Given the description of an element on the screen output the (x, y) to click on. 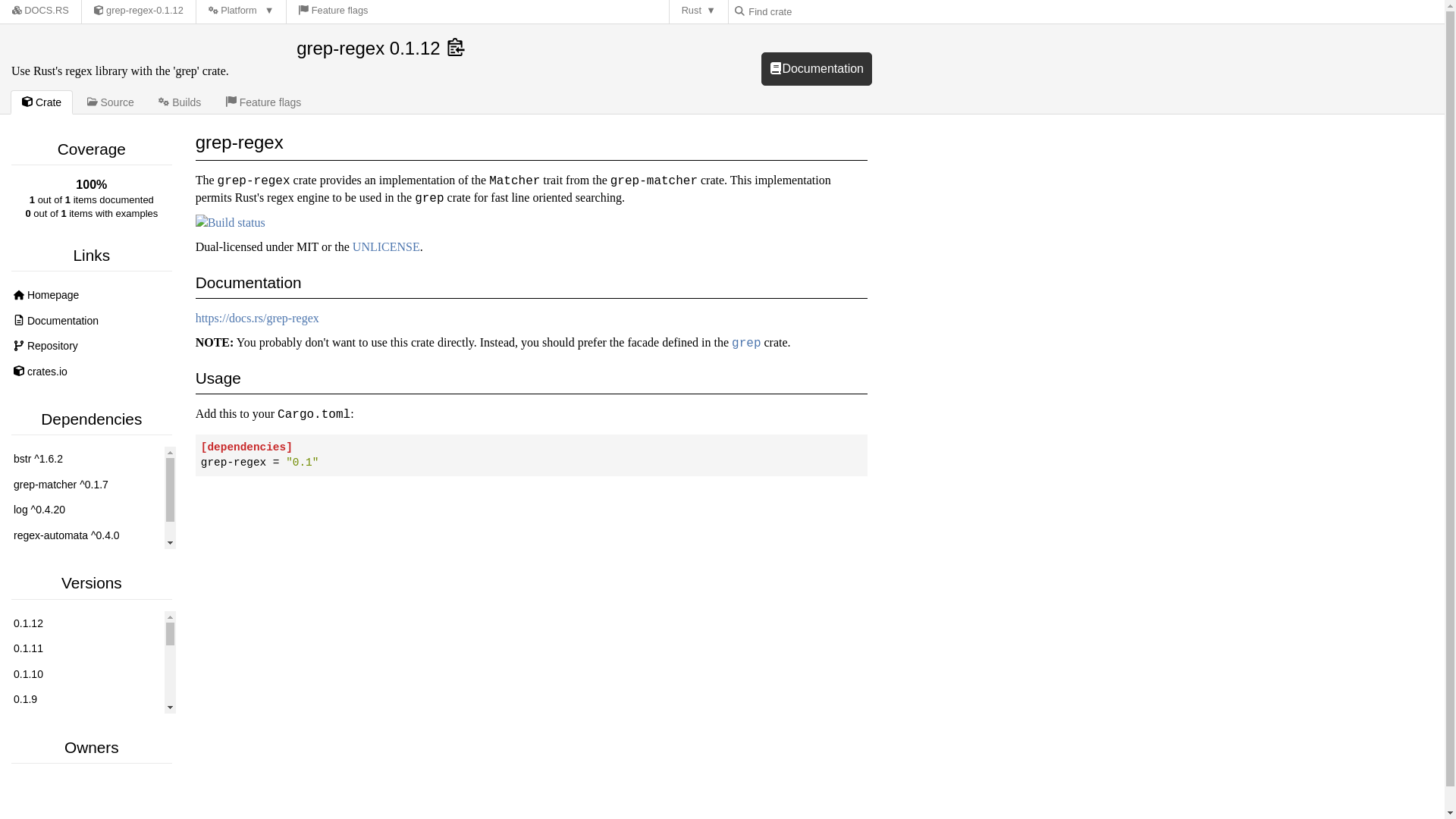
See grep-regex on crates.io (91, 371)
Feature flags (264, 101)
Platform (241, 11)
Canonical documentation (91, 321)
Rust (138, 11)
Browse available feature flags of grep-regex-0.1.12 (698, 11)
Feature flags (333, 11)
0.1.11 (333, 11)
